Given the description of an element on the screen output the (x, y) to click on. 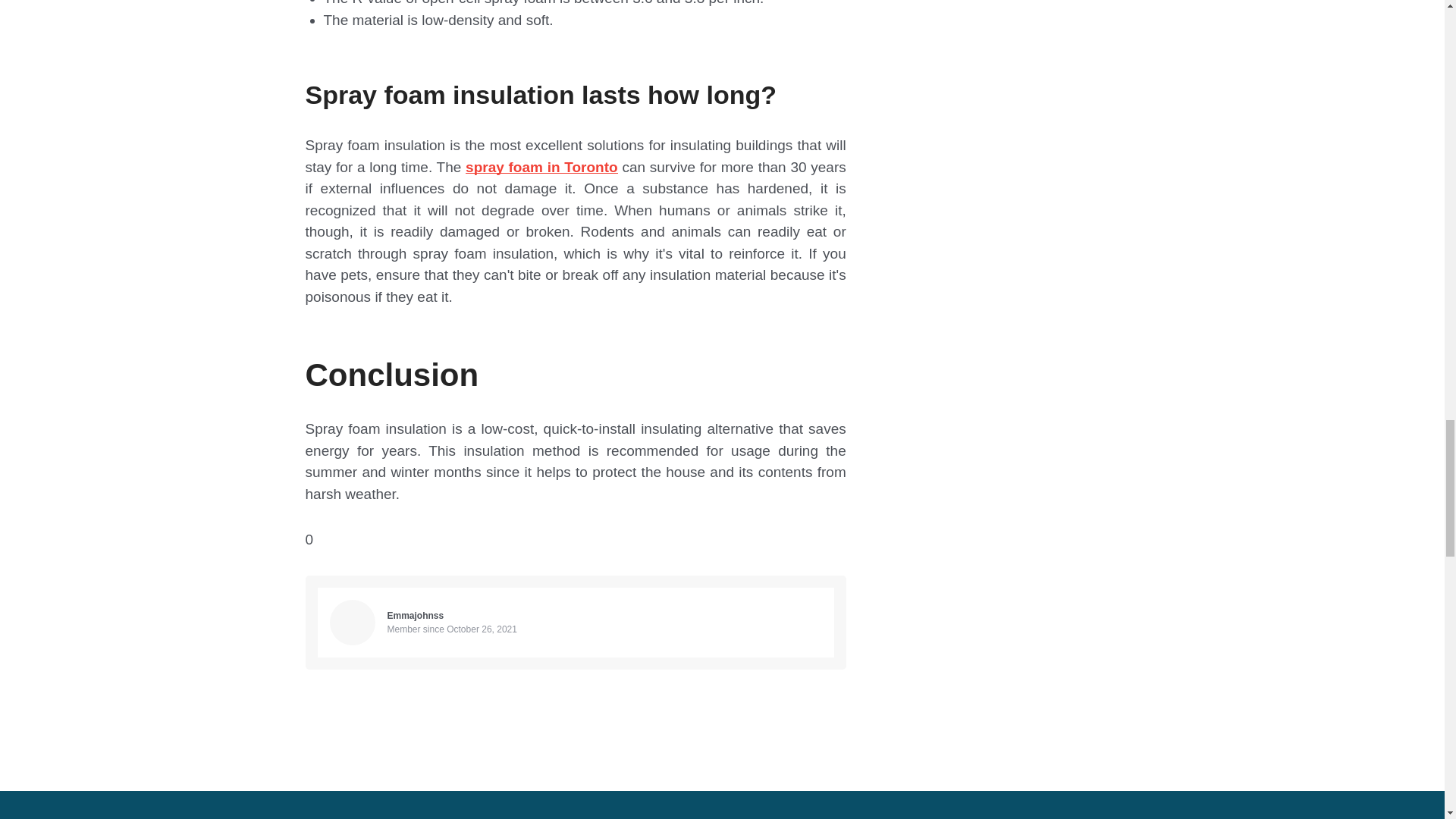
Emmajohnss (415, 615)
spray foam in Toronto (541, 166)
